Given the description of an element on the screen output the (x, y) to click on. 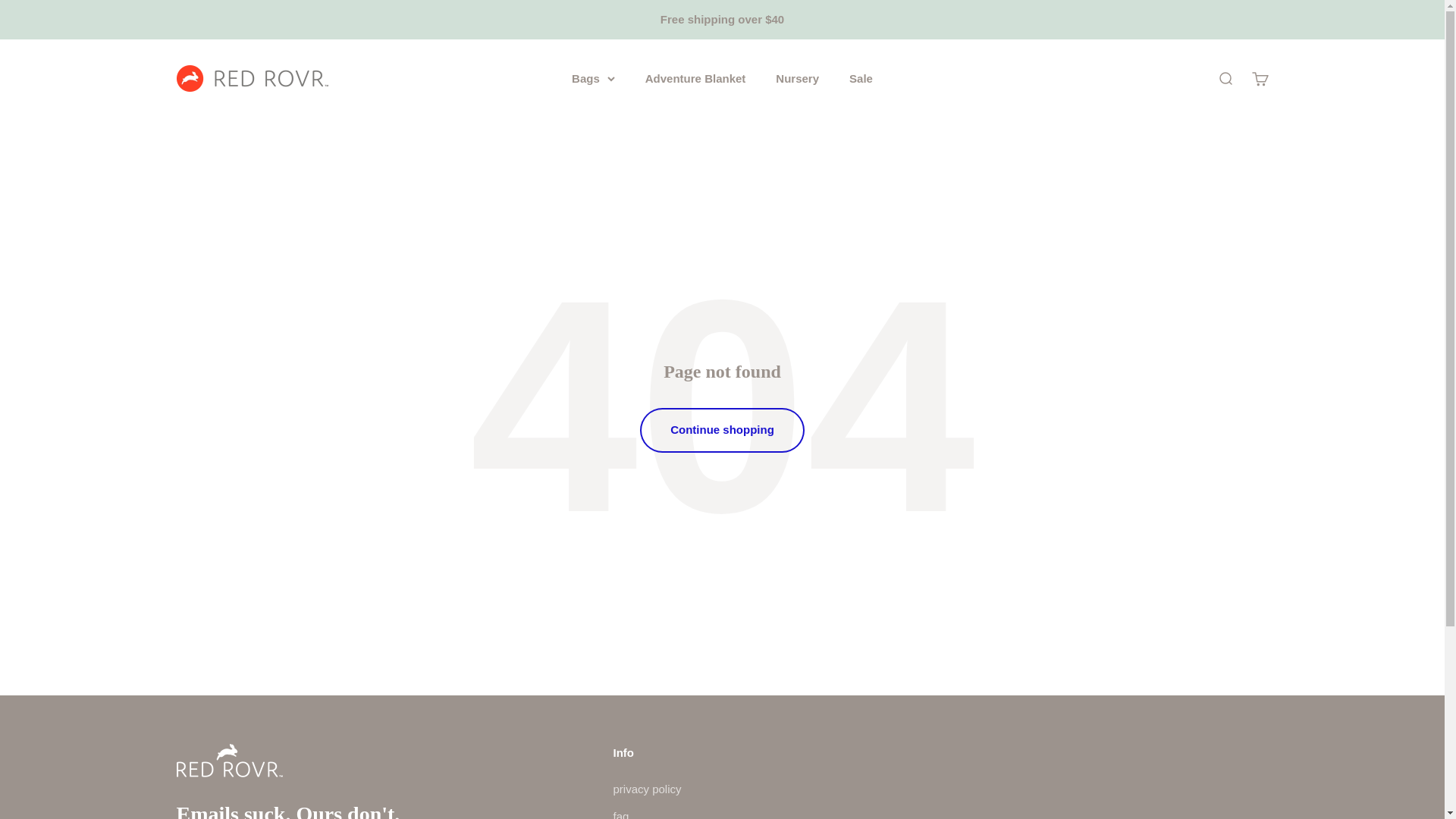
Adventure Blanket (695, 77)
privacy policy (646, 789)
Nursery (797, 77)
Sale (860, 77)
Red Rovr (251, 78)
Continue shopping (722, 429)
faq (620, 813)
Open search (1224, 77)
